Given the description of an element on the screen output the (x, y) to click on. 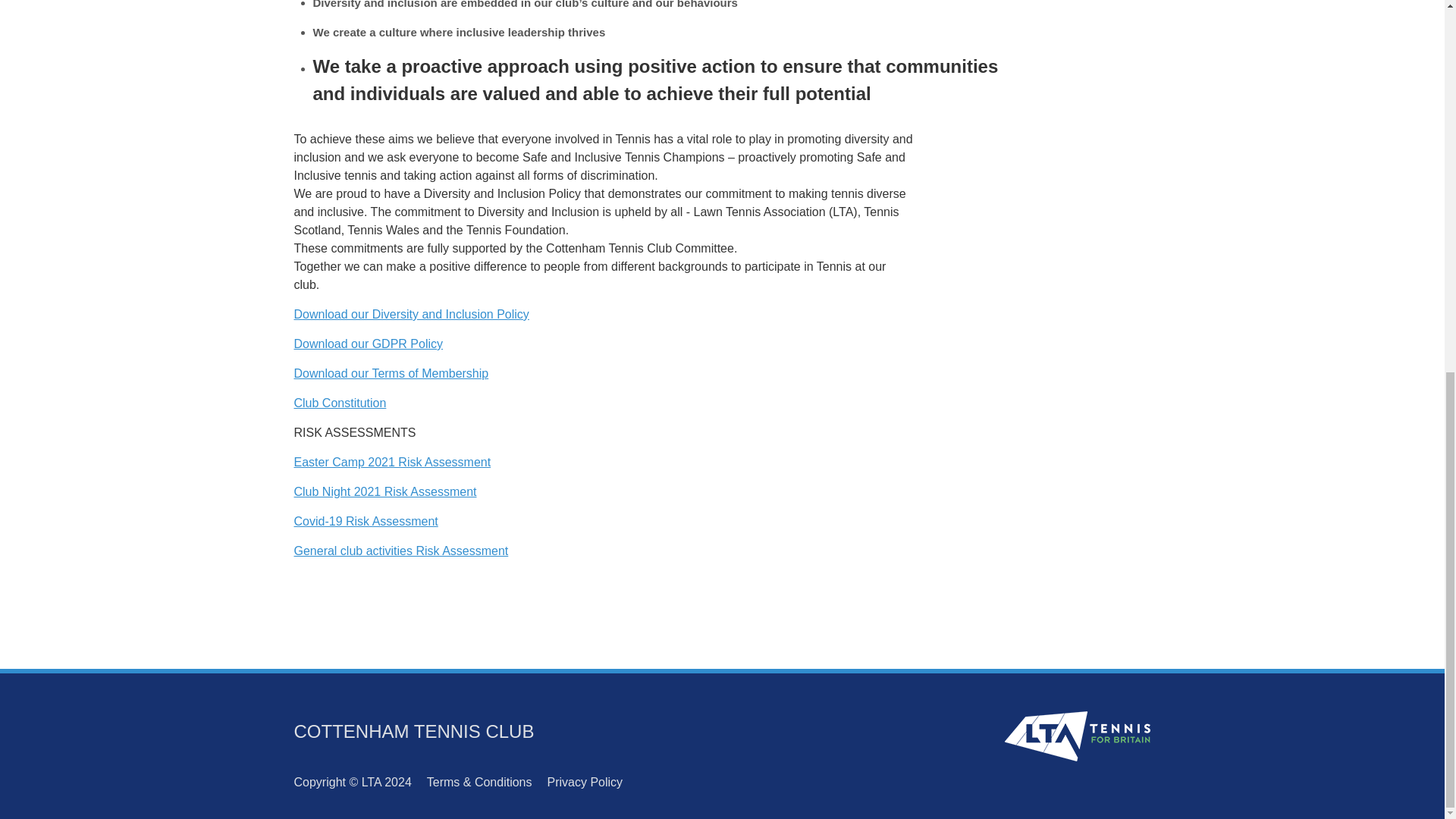
Download our Diversity and Inclusion Policy (411, 314)
Club Constitution (340, 402)
Download our Terms of Membership (391, 373)
Club Night 2021 Risk Assessment (385, 491)
Download our GDPR Policy (369, 343)
Easter Camp 2021 Risk Assessment (393, 461)
Covid-19 Risk Assessment (366, 521)
